Given the description of an element on the screen output the (x, y) to click on. 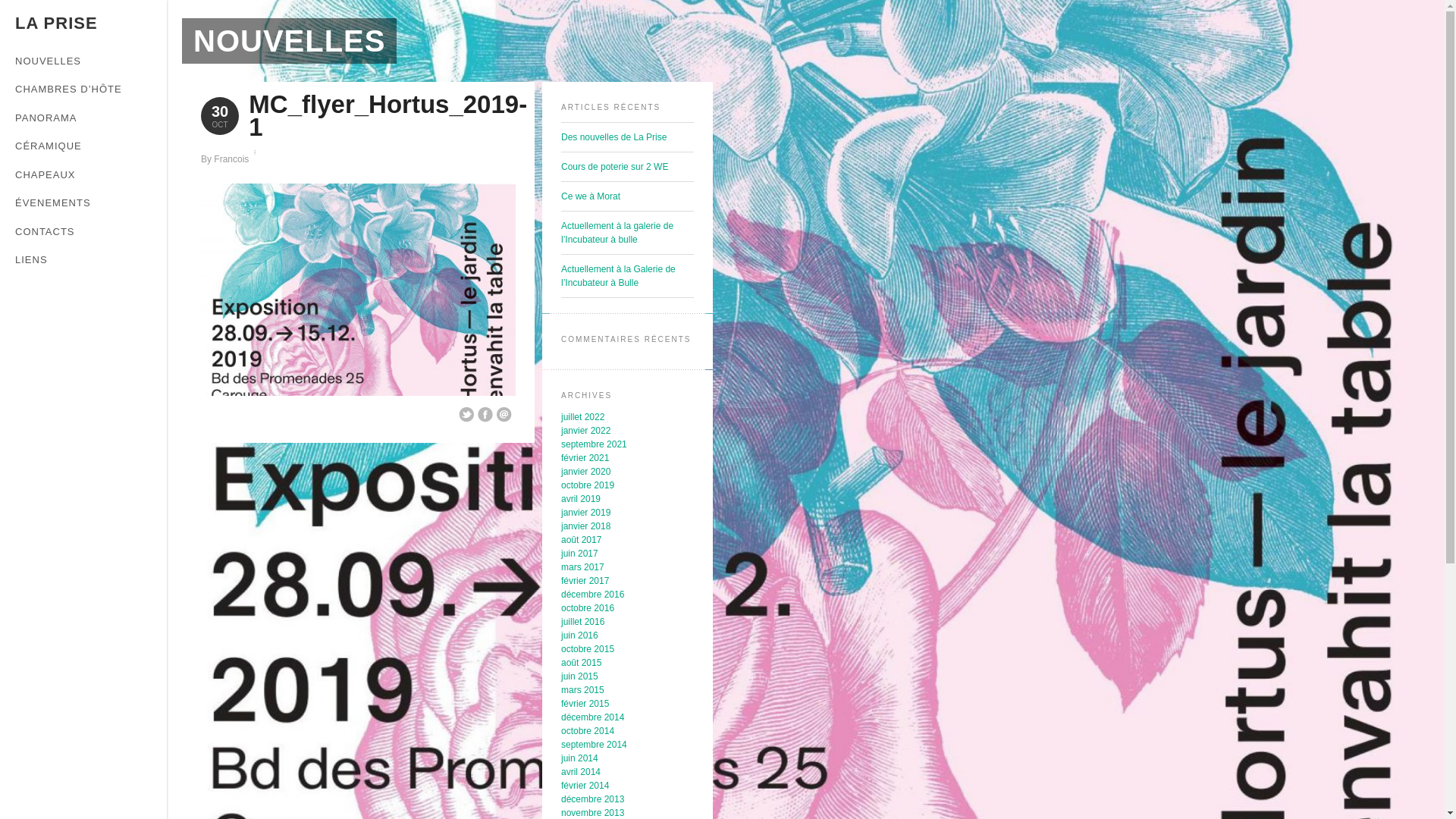
Share on Facebook Element type: text (484, 414)
octobre 2016 Element type: text (587, 607)
octobre 2014 Element type: text (587, 730)
juillet 2022 Element type: text (582, 416)
novembre 2013 Element type: text (592, 812)
Cours de poterie sur 2 WE Element type: text (614, 166)
juin 2014 Element type: text (579, 758)
avril 2019 Element type: text (580, 498)
PANORAMA Element type: text (83, 117)
Share on Twitter Element type: text (465, 414)
janvier 2020 Element type: text (585, 471)
juin 2015 Element type: text (579, 676)
NOUVELLES Element type: text (289, 40)
MC_flyer_Hortus_2019-1 Element type: text (387, 115)
LA PRISE Element type: text (56, 22)
LIENS Element type: text (83, 259)
avril 2014 Element type: text (580, 771)
CONTACTS Element type: text (83, 231)
septembre 2014 Element type: text (594, 744)
Des nouvelles de La Prise Element type: text (613, 136)
janvier 2022 Element type: text (585, 430)
janvier 2018 Element type: text (585, 525)
mars 2015 Element type: text (582, 689)
NOUVELLES Element type: text (83, 61)
Email This Element type: text (503, 414)
octobre 2019 Element type: text (587, 485)
mars 2017 Element type: text (582, 566)
juin 2016 Element type: text (579, 635)
juin 2017 Element type: text (579, 553)
CHAPEAUX Element type: text (83, 174)
octobre 2015 Element type: text (587, 648)
janvier 2019 Element type: text (585, 512)
septembre 2021 Element type: text (594, 444)
juillet 2016 Element type: text (582, 621)
